Given the description of an element on the screen output the (x, y) to click on. 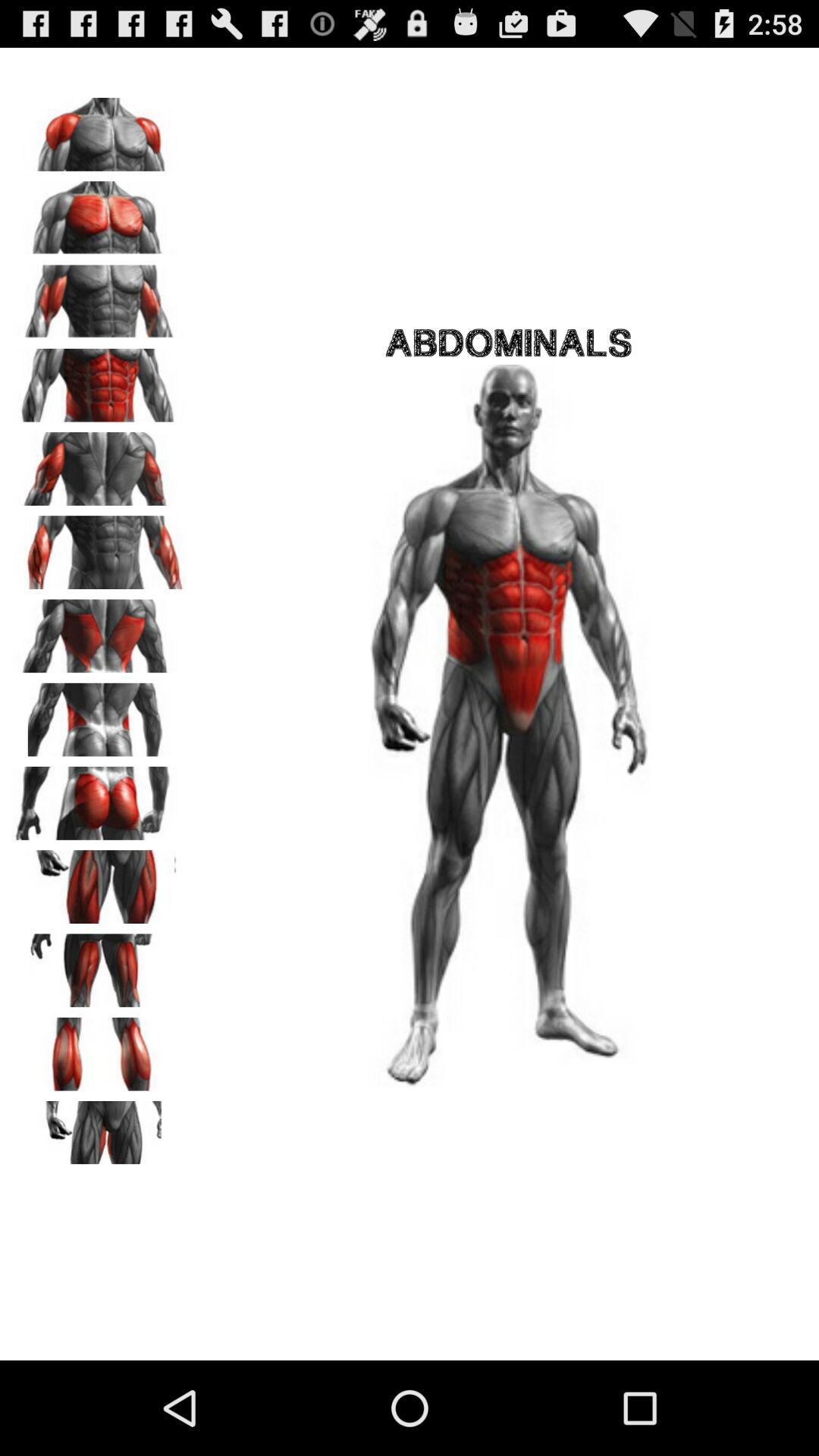
switch muscle group (99, 965)
